Given the description of an element on the screen output the (x, y) to click on. 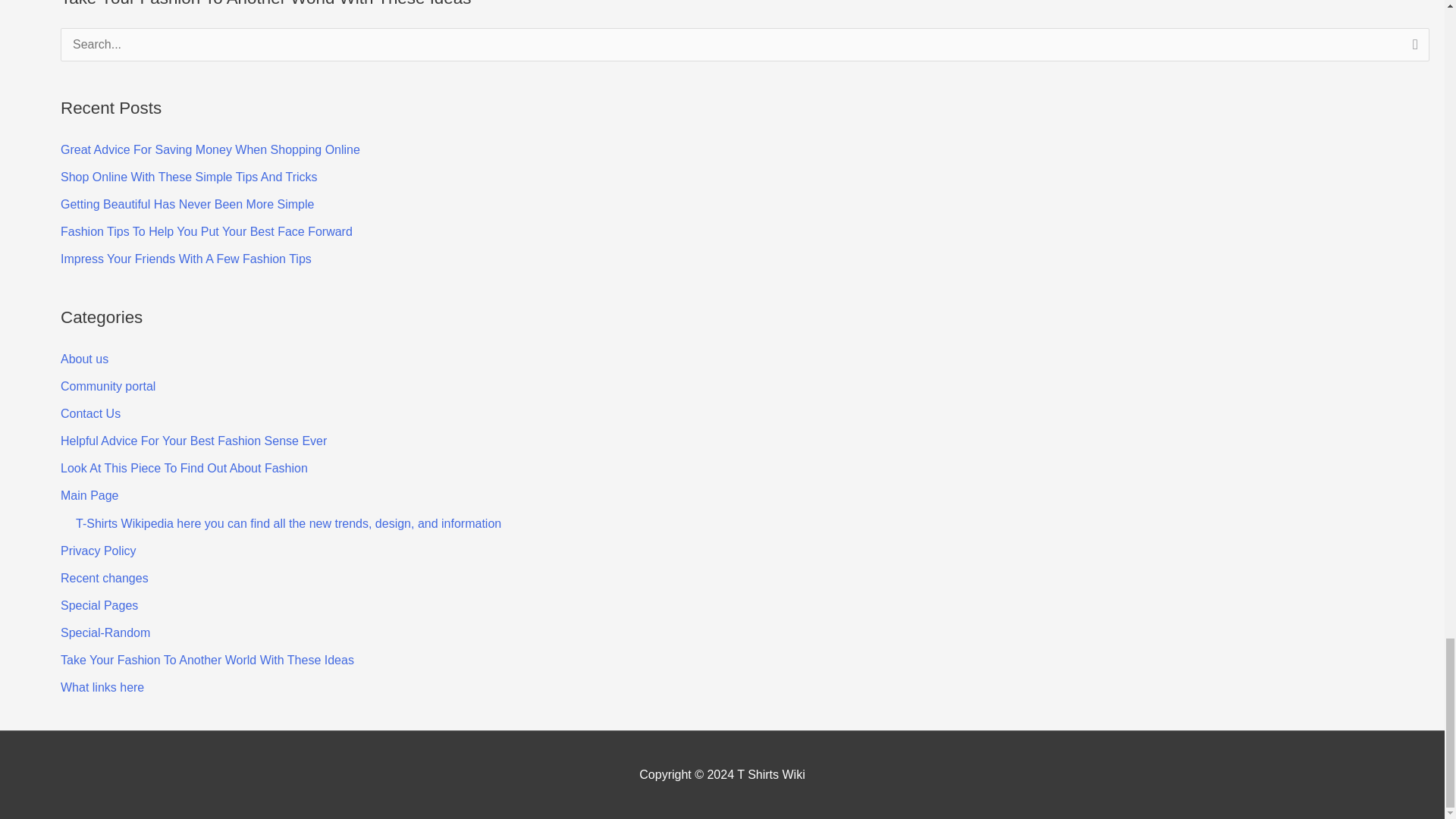
Special Pages (99, 604)
Take Your Fashion To Another World With These Ideas (207, 659)
Community portal (108, 386)
Getting Beautiful Has Never Been More Simple (187, 204)
Contact Us (90, 413)
Privacy Policy (98, 550)
Fashion Tips To Help You Put Your Best Face Forward (206, 231)
Helpful Advice For Your Best Fashion Sense Ever (193, 440)
Special-Random (105, 632)
Shop Online With These Simple Tips And Tricks (189, 176)
